Given the description of an element on the screen output the (x, y) to click on. 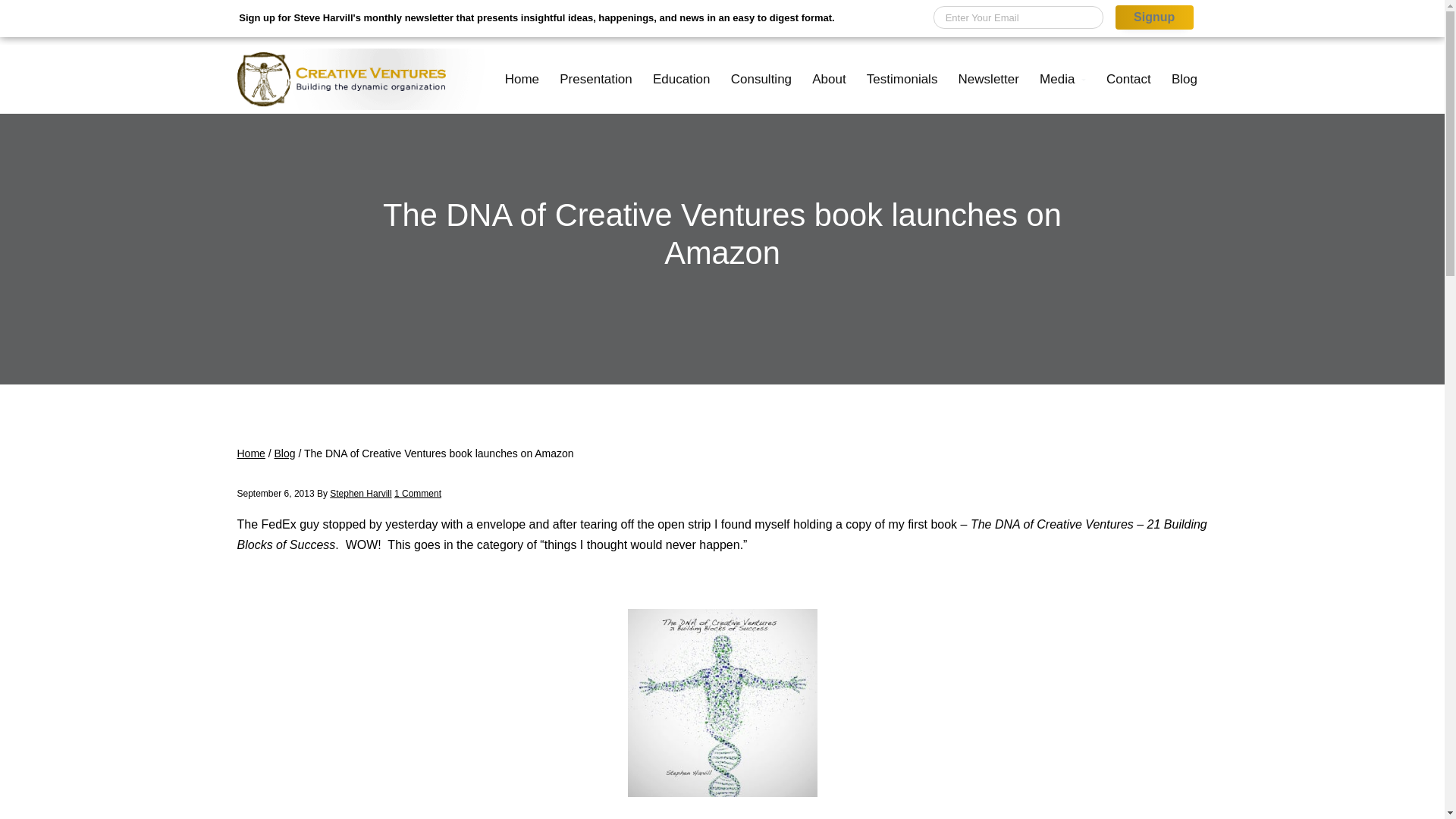
Consulting (761, 78)
Blog (285, 453)
Contact (1128, 78)
Home (522, 78)
Stephen Harvill (360, 493)
Education (681, 78)
Signup (1154, 16)
Presentation (596, 78)
Blog (1183, 78)
